Given the description of an element on the screen output the (x, y) to click on. 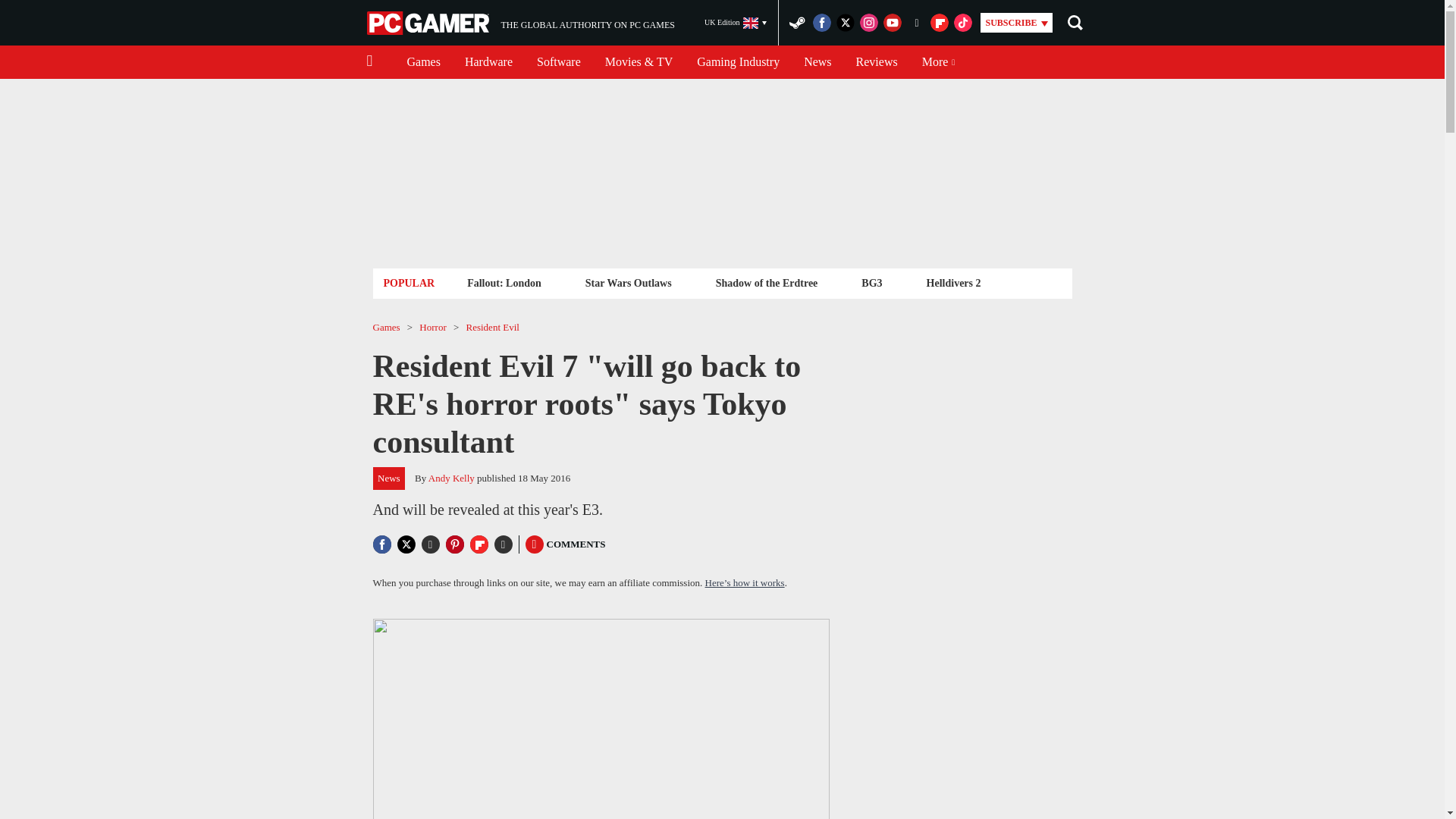
Software (558, 61)
PC Gamer (429, 22)
Star Wars Outlaws (628, 282)
Gaming Industry (738, 61)
Games (422, 61)
UK Edition (735, 22)
Reviews (877, 61)
Fallout: London (504, 282)
News (817, 61)
Hardware (520, 22)
